Given the description of an element on the screen output the (x, y) to click on. 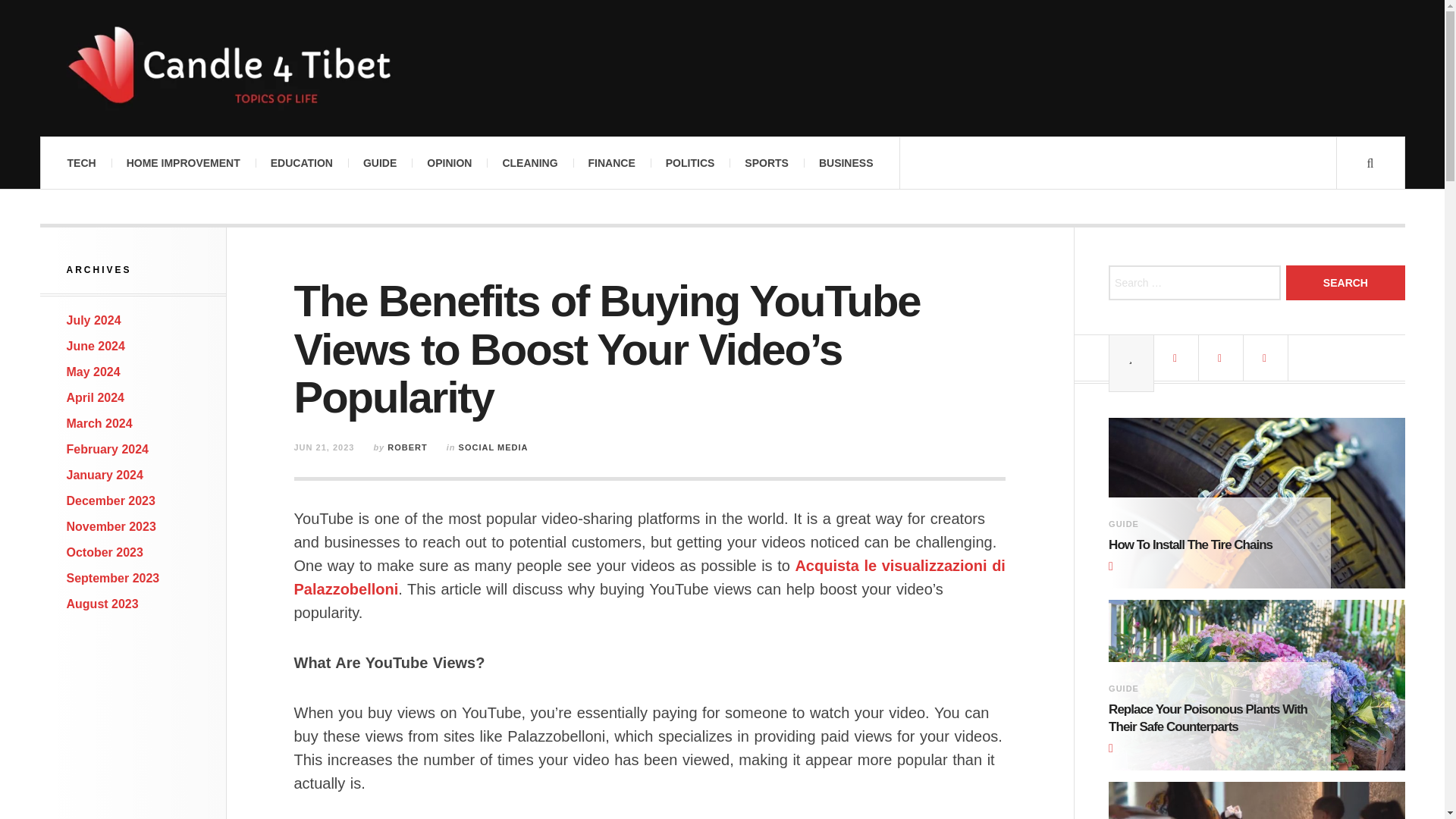
HOME IMPROVEMENT (184, 163)
GUIDE (379, 163)
BUSINESS (845, 163)
SPORTS (766, 163)
OPINION (449, 163)
Search (1345, 282)
Acquista le visualizzazioni di Palazzobelloni (650, 577)
December 2023 (110, 500)
March 2024 (99, 422)
SOCIAL MEDIA (493, 447)
September 2023 (113, 577)
FINANCE (611, 163)
TECH (80, 163)
November 2023 (110, 526)
May 2024 (93, 371)
